Given the description of an element on the screen output the (x, y) to click on. 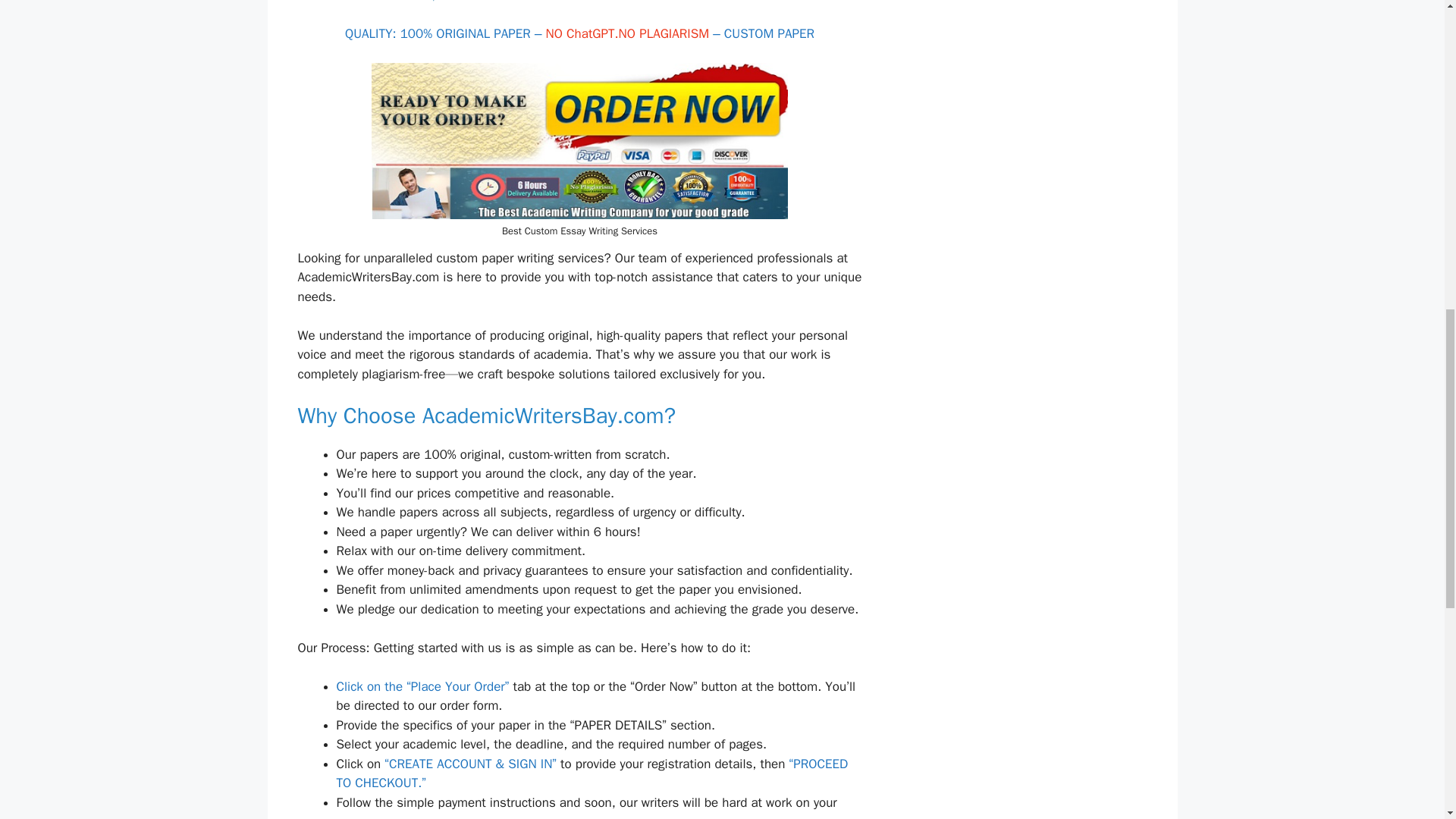
NO ChatGPT.NO PLAGIARISM (628, 33)
CUSTOM PAPER (768, 33)
